Given the description of an element on the screen output the (x, y) to click on. 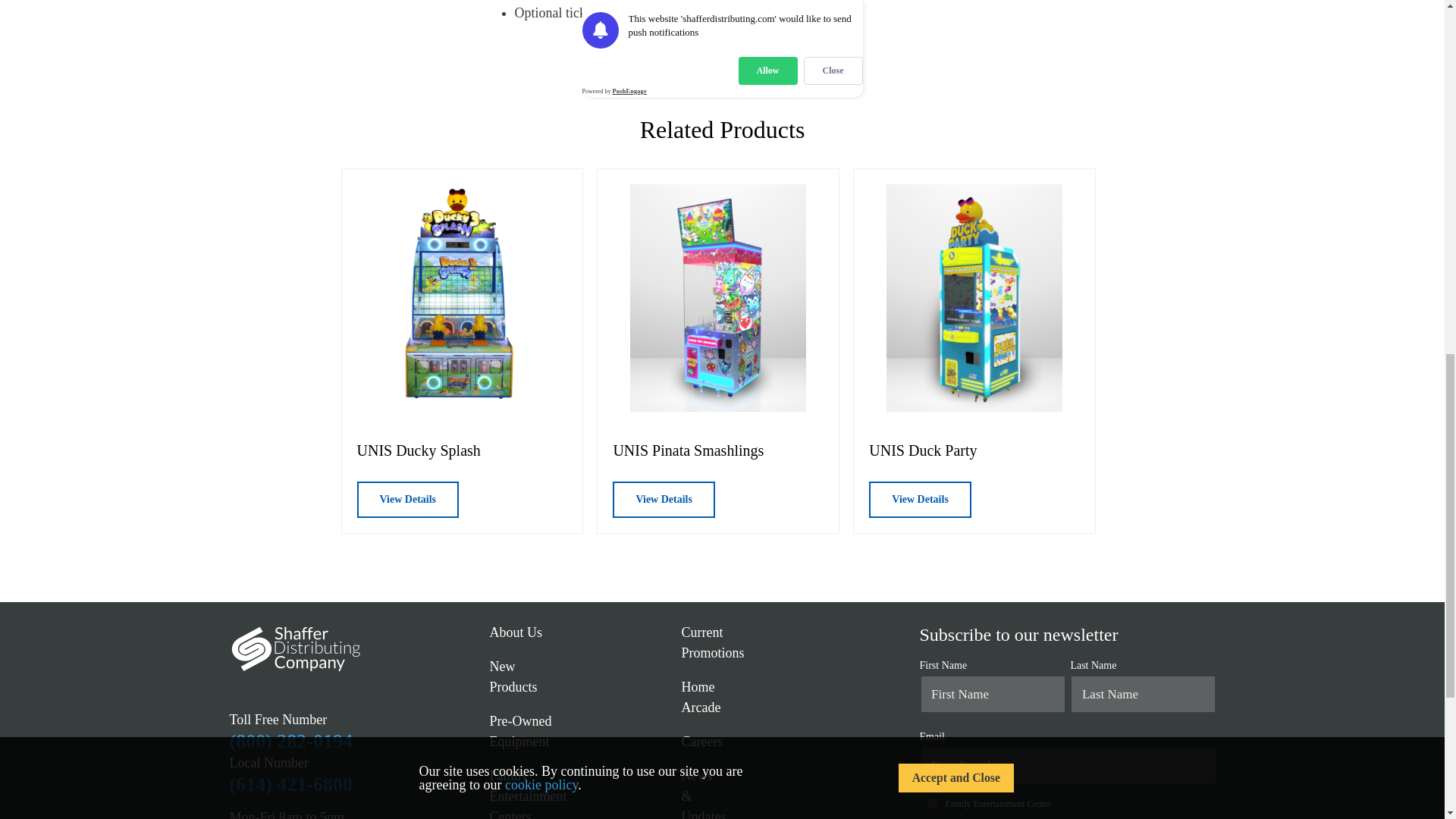
Family Entertainment Center (931, 802)
